Given the description of an element on the screen output the (x, y) to click on. 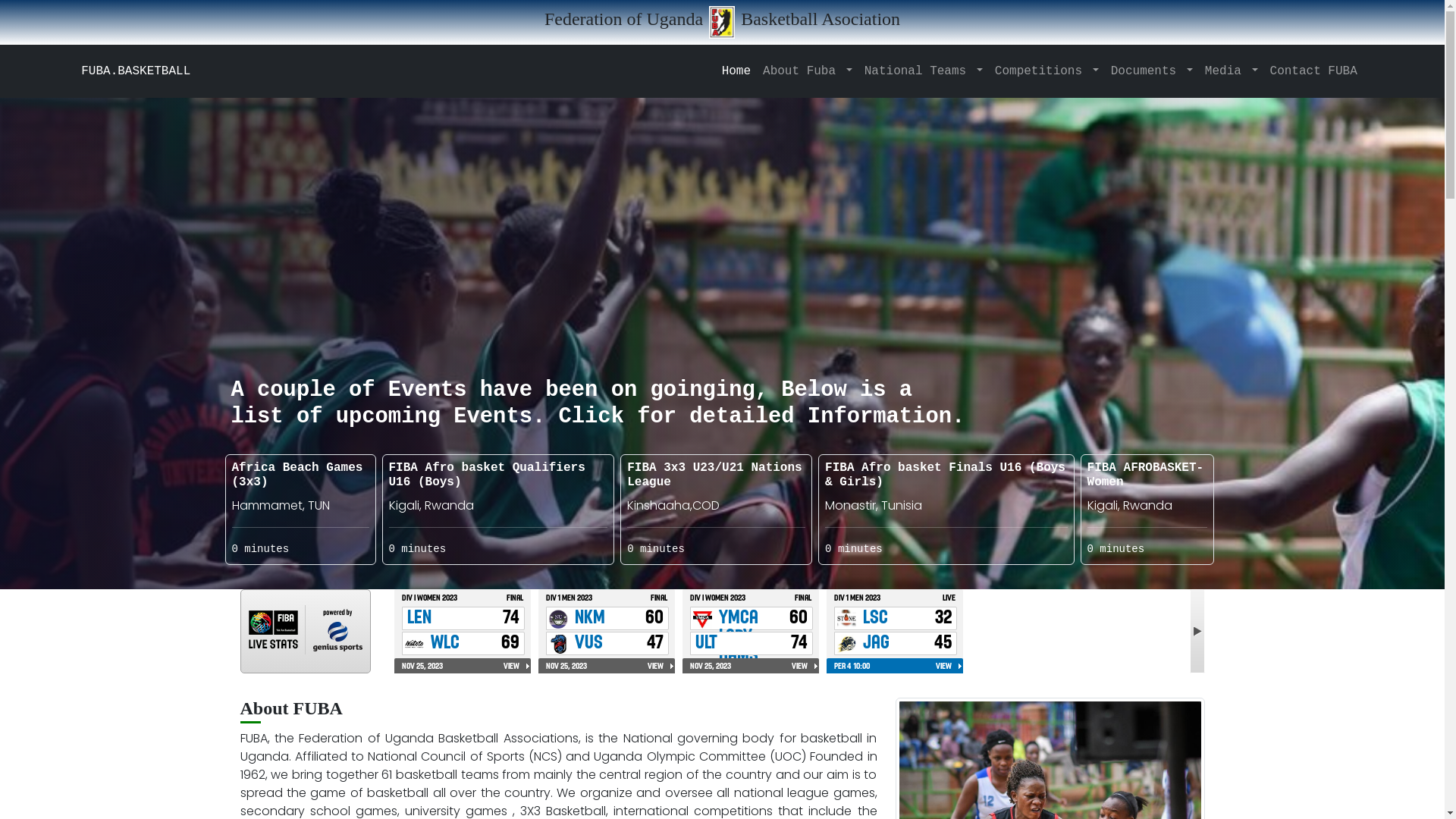
Contact FUBA Element type: text (1313, 71)
Documents Element type: text (1151, 71)
National Teams Element type: text (923, 71)
Home Element type: text (735, 71)
FUBA.BASKETBALL Element type: text (135, 71)
Media Element type: text (1231, 71)
About Fuba Element type: text (807, 71)
Competitions Element type: text (1046, 71)
